Given the description of an element on the screen output the (x, y) to click on. 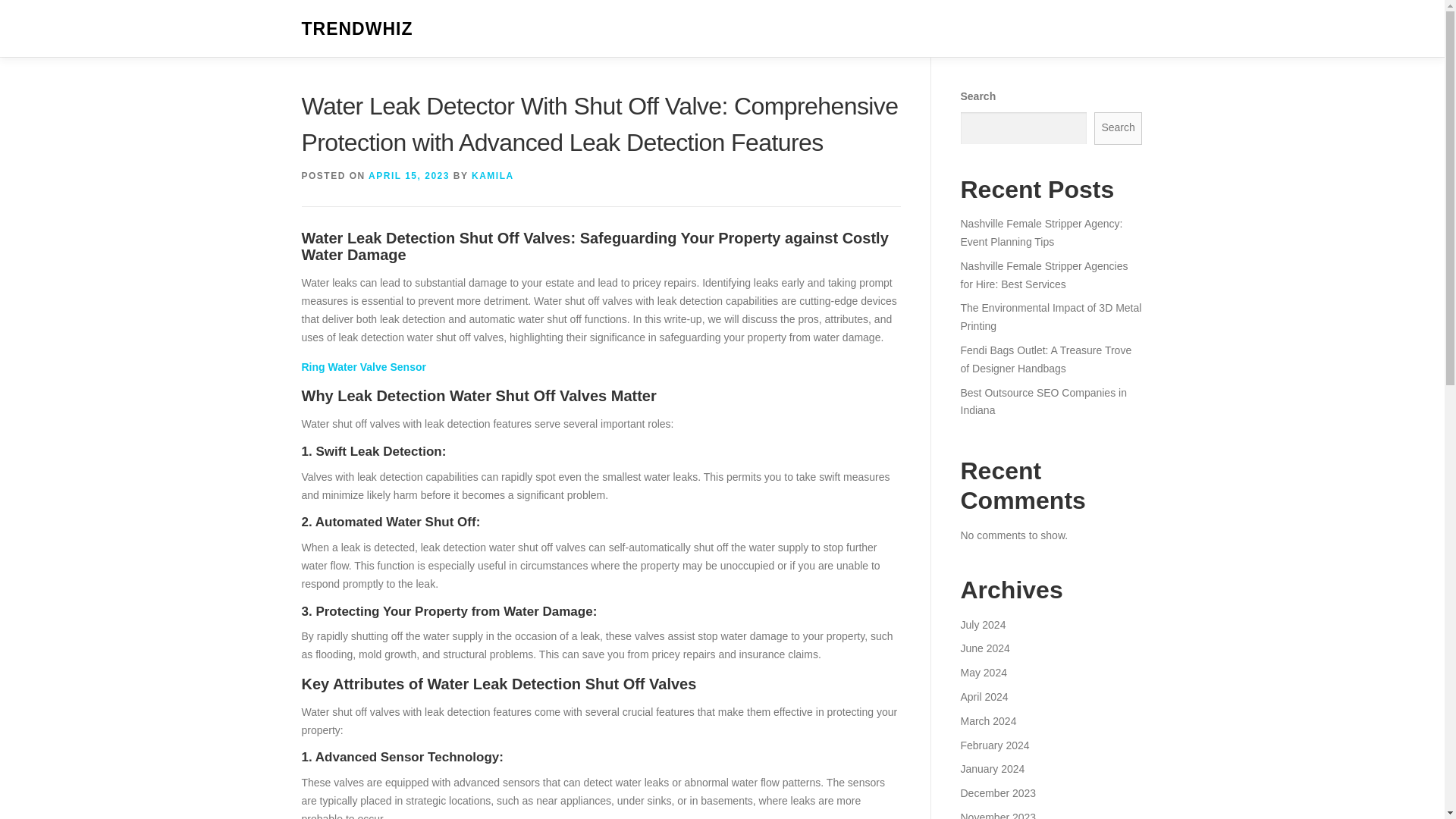
TRENDWHIZ (357, 29)
June 2024 (984, 648)
Nashville Female Stripper Agencies for Hire: Best Services (1042, 275)
February 2024 (994, 744)
December 2023 (997, 793)
January 2024 (992, 768)
November 2023 (997, 815)
Ring Water Valve Sensor (363, 367)
Search (1118, 128)
April 2024 (983, 696)
Fendi Bags Outlet: A Treasure Trove of Designer Handbags (1045, 358)
APRIL 15, 2023 (408, 175)
The Environmental Impact of 3D Metal Printing (1050, 317)
Nashville Female Stripper Agency: Event Planning Tips (1040, 232)
July 2024 (982, 624)
